Given the description of an element on the screen output the (x, y) to click on. 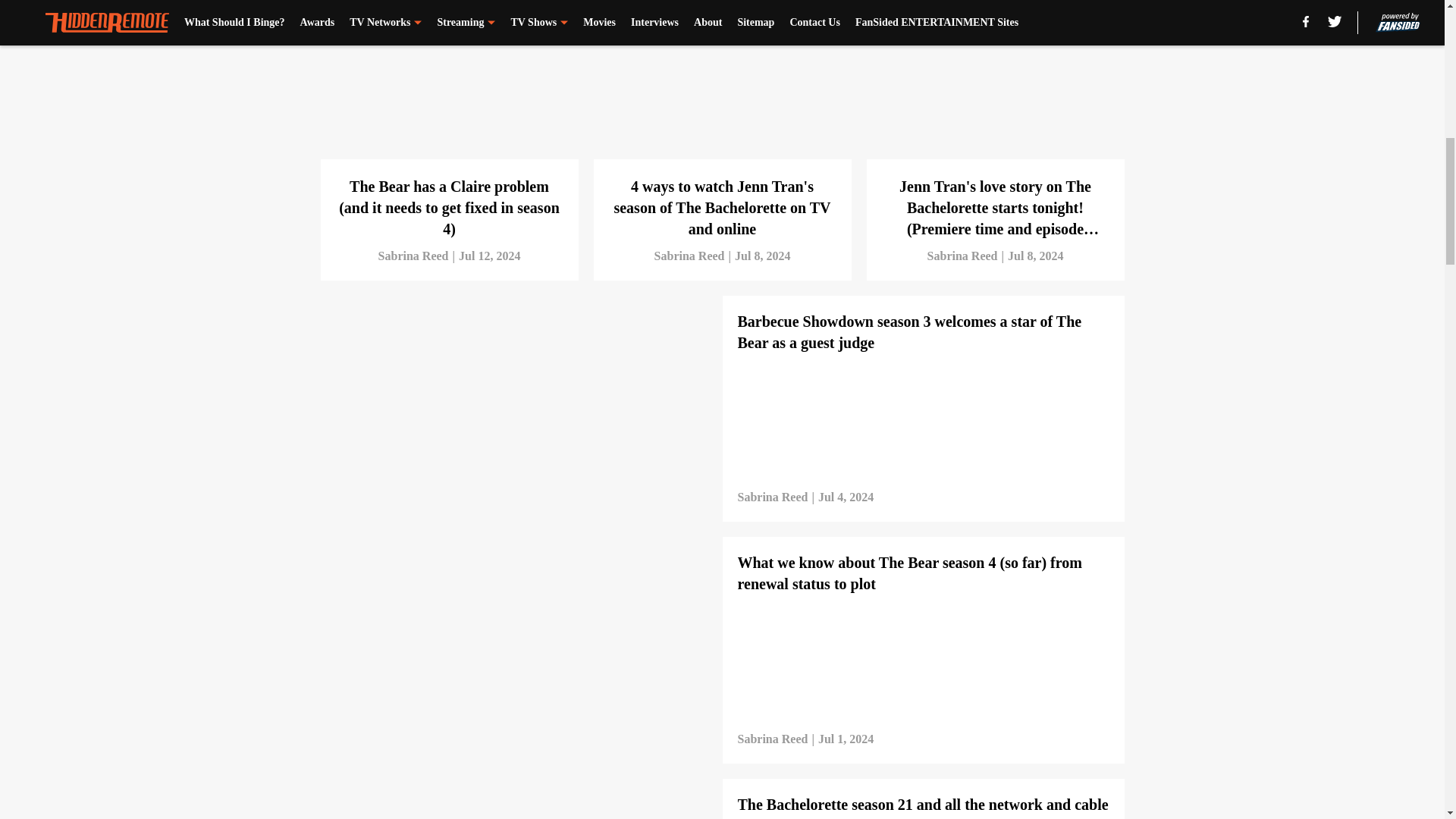
Sabrina Reed (413, 256)
Sabrina Reed (689, 256)
Sabrina Reed (962, 256)
